Given the description of an element on the screen output the (x, y) to click on. 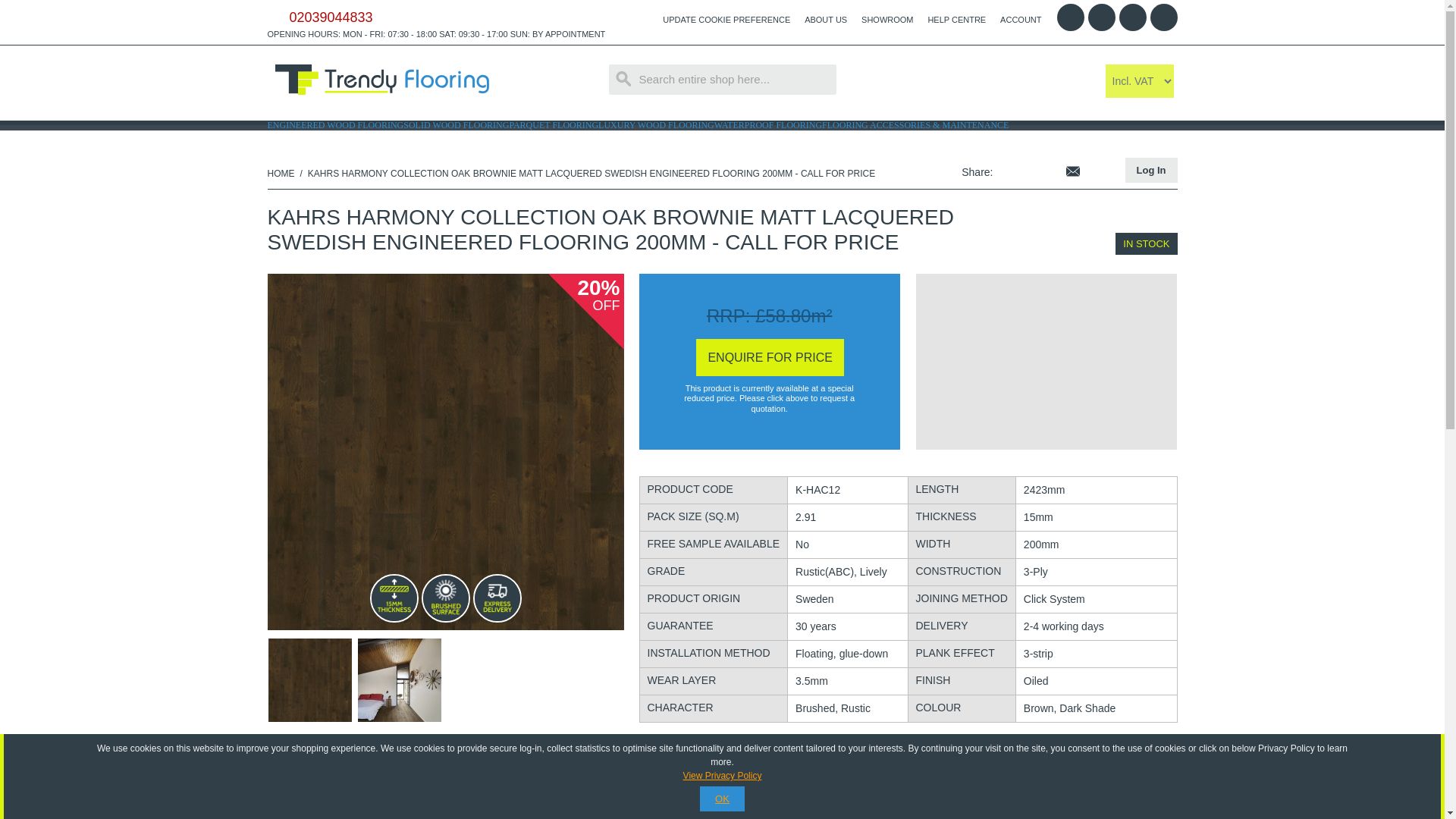
Trendy Floors Help Centre (956, 19)
UPDATE COOKIE PREFERENCE (726, 19)
HELP CENTRE (956, 19)
Trendy Floors Flooring Account (1020, 19)
Search (623, 78)
View Privacy Policy (721, 775)
cookie preference (726, 19)
ENGINEERED WOOD FLOORING (334, 124)
ABOUT US (826, 19)
Go to Home Page (280, 173)
